Given the description of an element on the screen output the (x, y) to click on. 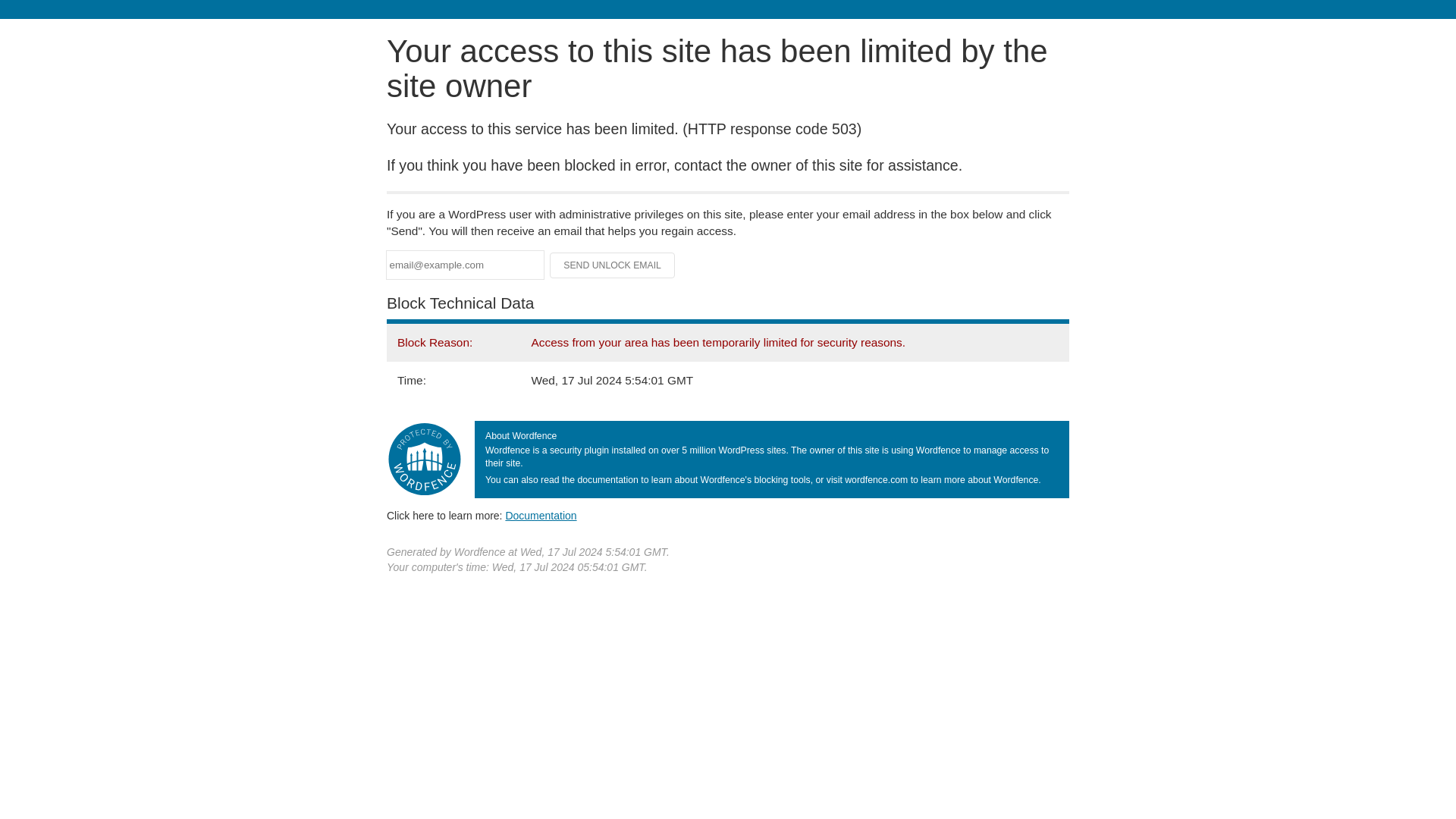
Send Unlock Email (612, 265)
Send Unlock Email (612, 265)
Documentation (540, 515)
